Given the description of an element on the screen output the (x, y) to click on. 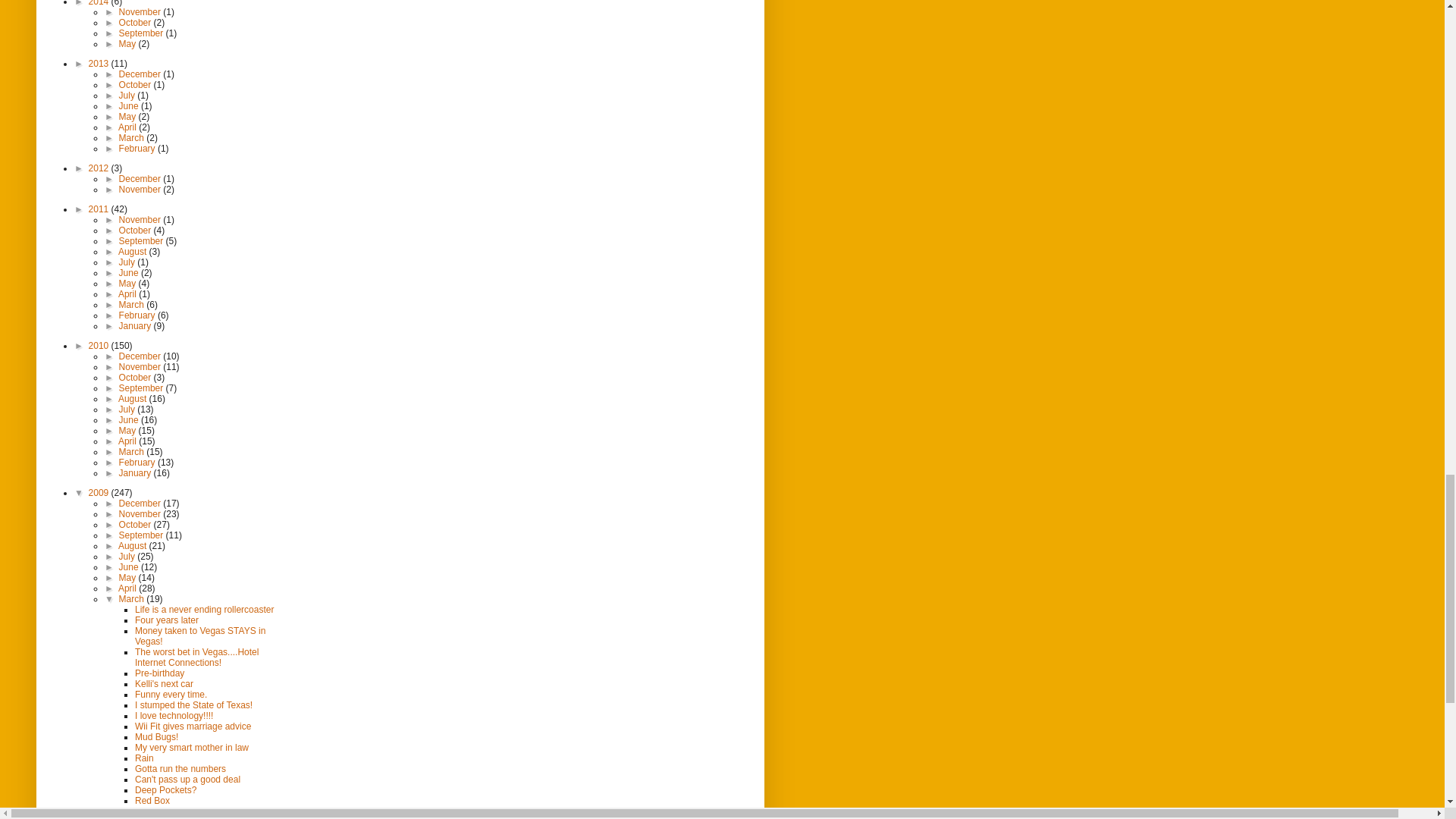
2014 (100, 3)
